Given the description of an element on the screen output the (x, y) to click on. 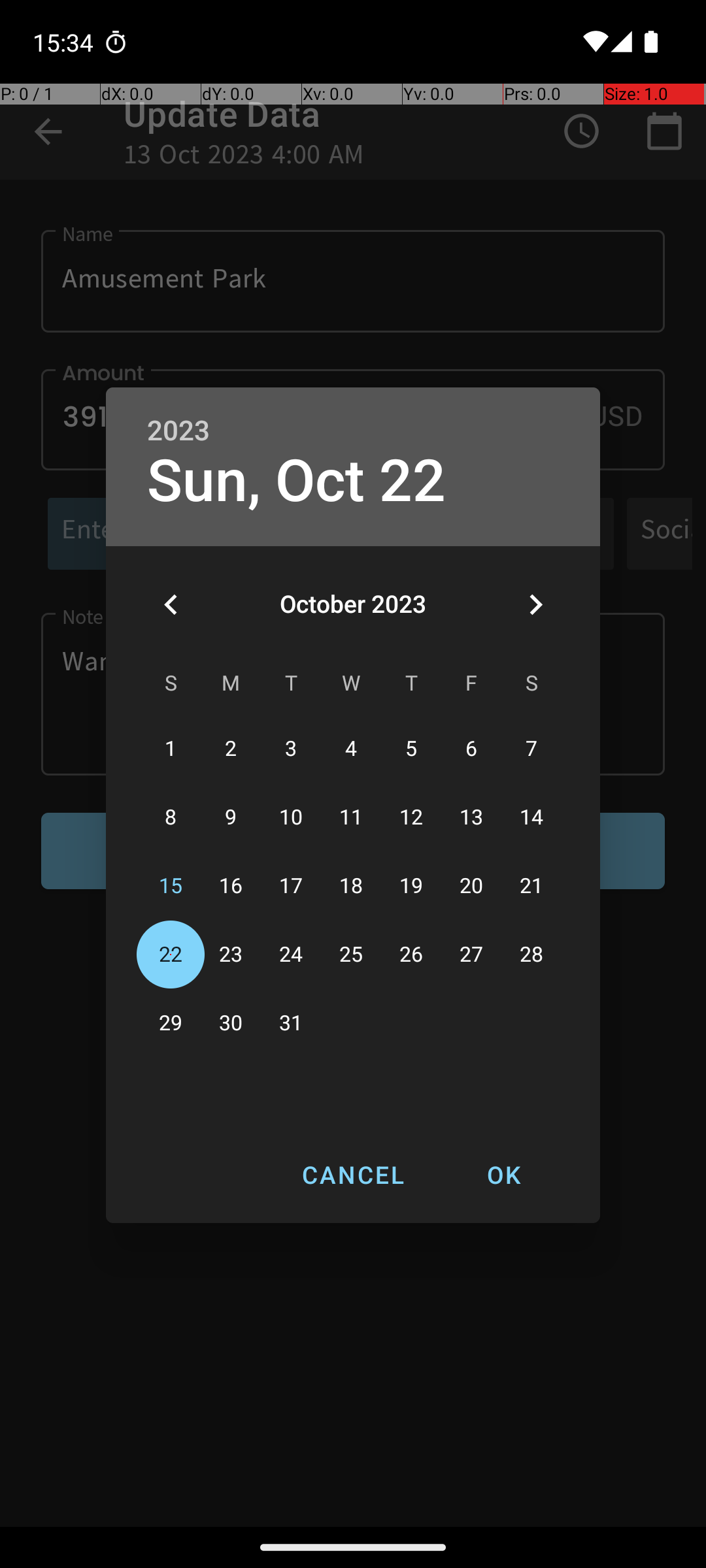
Sun, Oct 22 Element type: android.widget.TextView (296, 480)
